Given the description of an element on the screen output the (x, y) to click on. 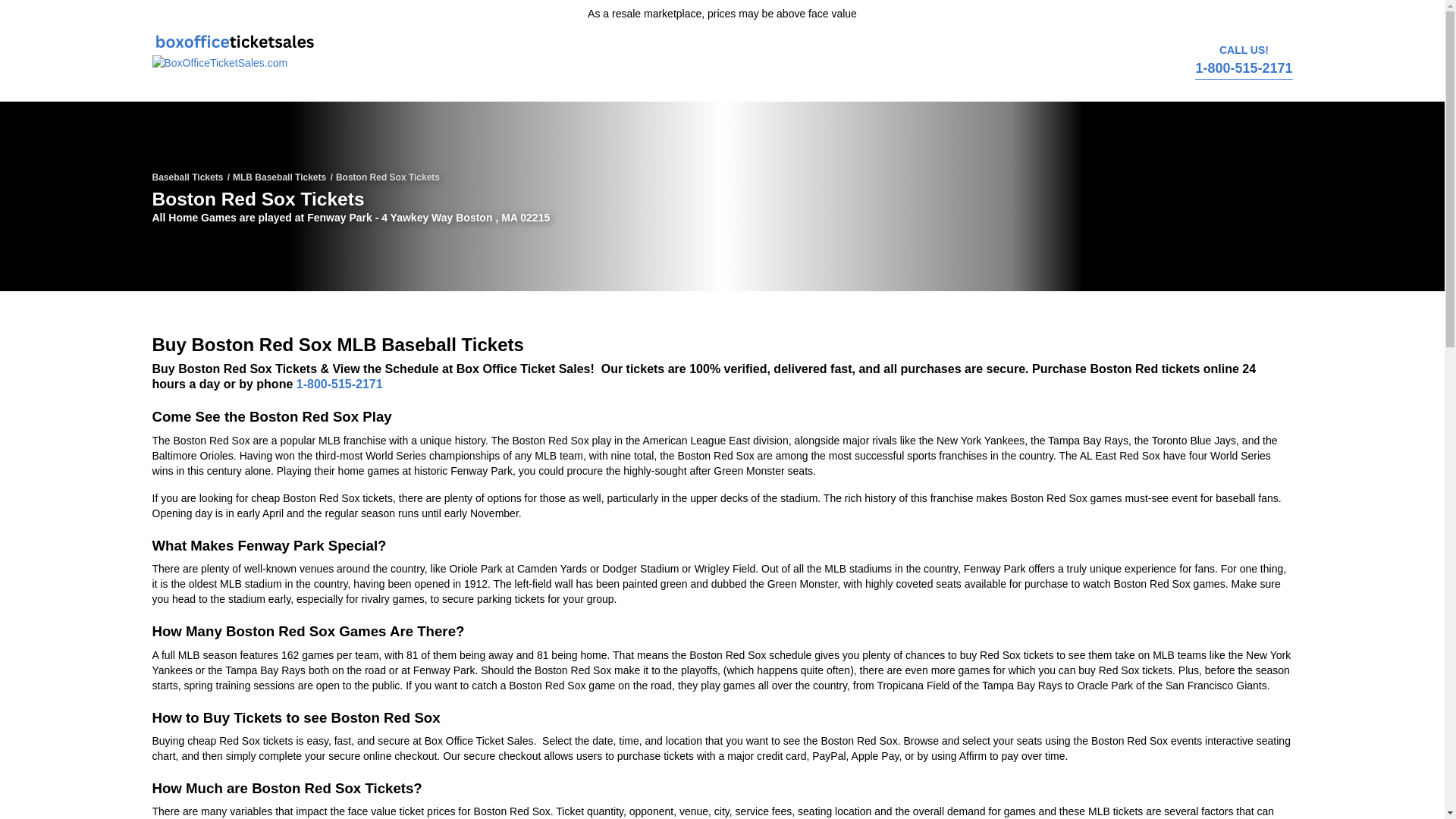
Baseball Tickets (186, 176)
MLB Baseball Tickets (279, 176)
